Given the description of an element on the screen output the (x, y) to click on. 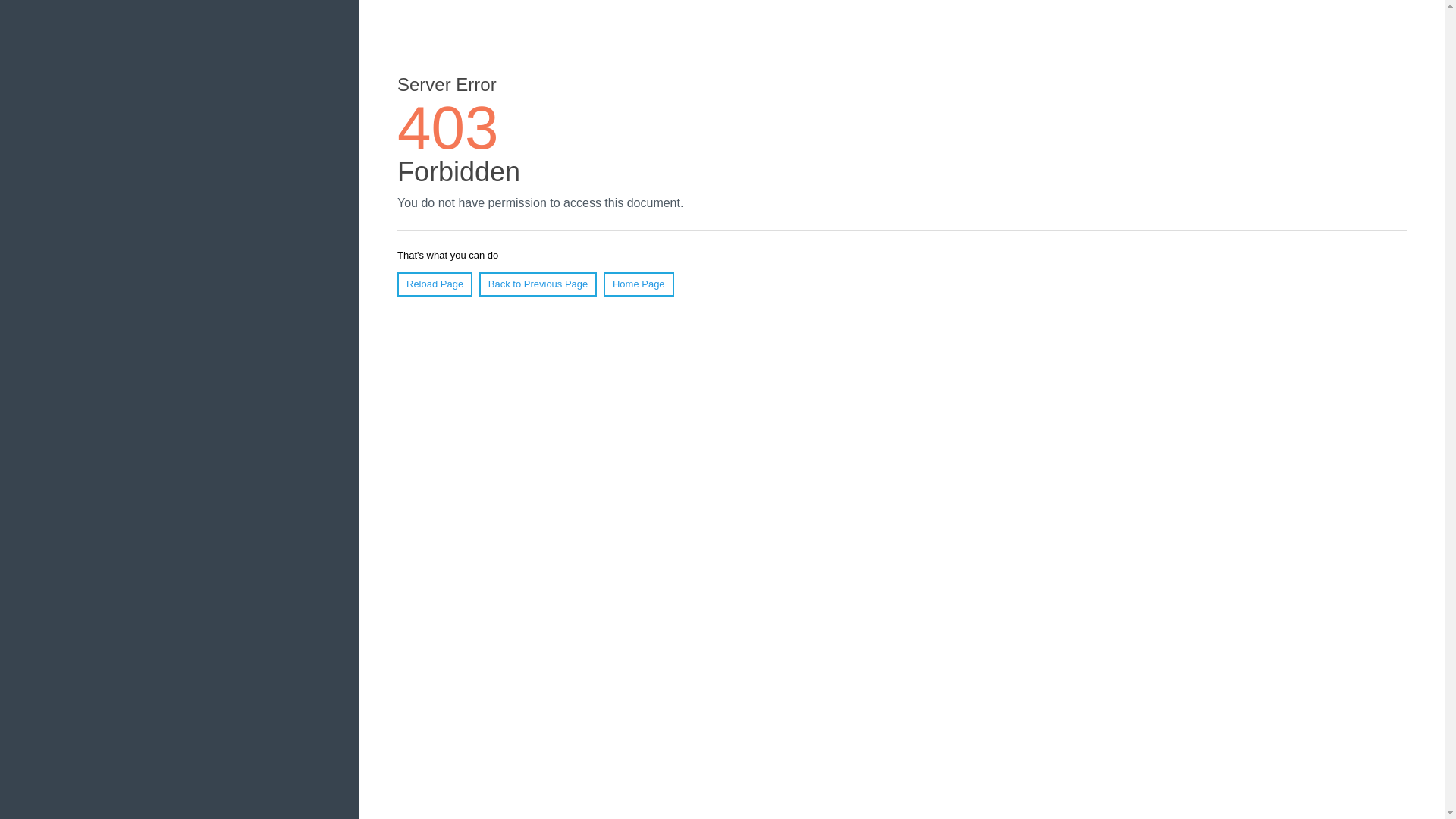
Home Page (639, 283)
Back to Previous Page (537, 283)
Reload Page (434, 283)
